Given the description of an element on the screen output the (x, y) to click on. 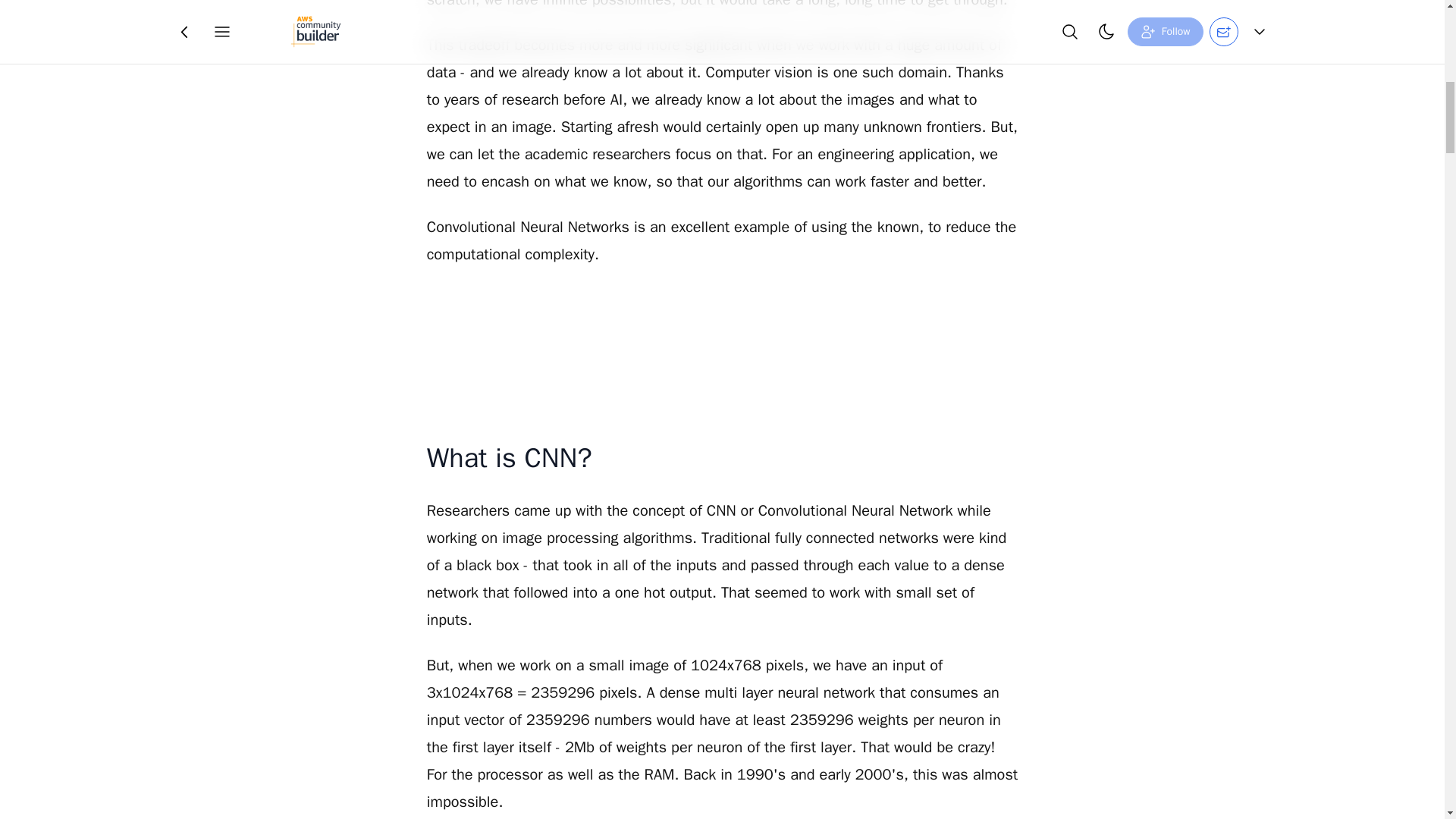
Add Bookmark (757, 24)
